Given the description of an element on the screen output the (x, y) to click on. 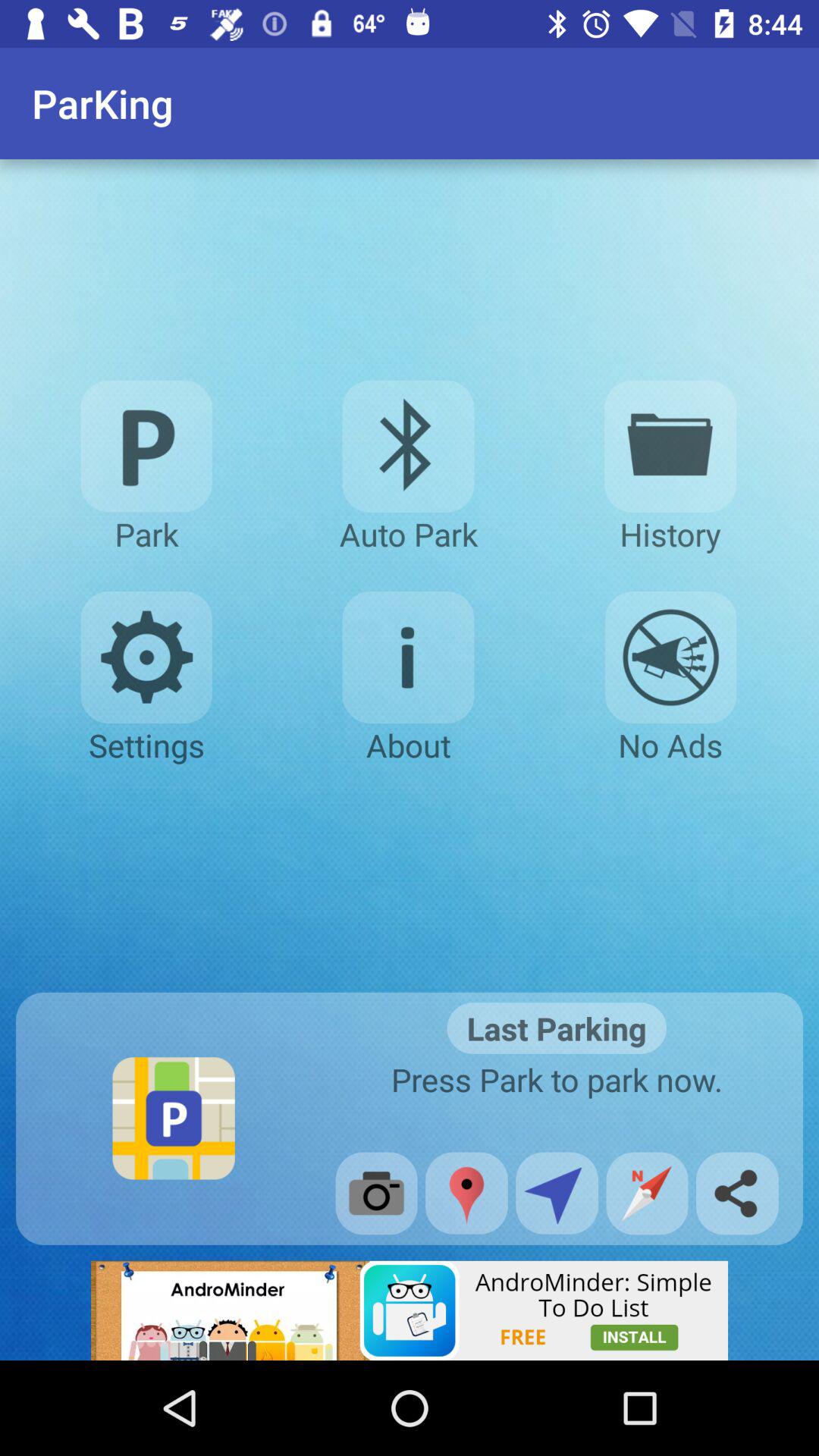
disable advertisement option (670, 657)
